Given the description of an element on the screen output the (x, y) to click on. 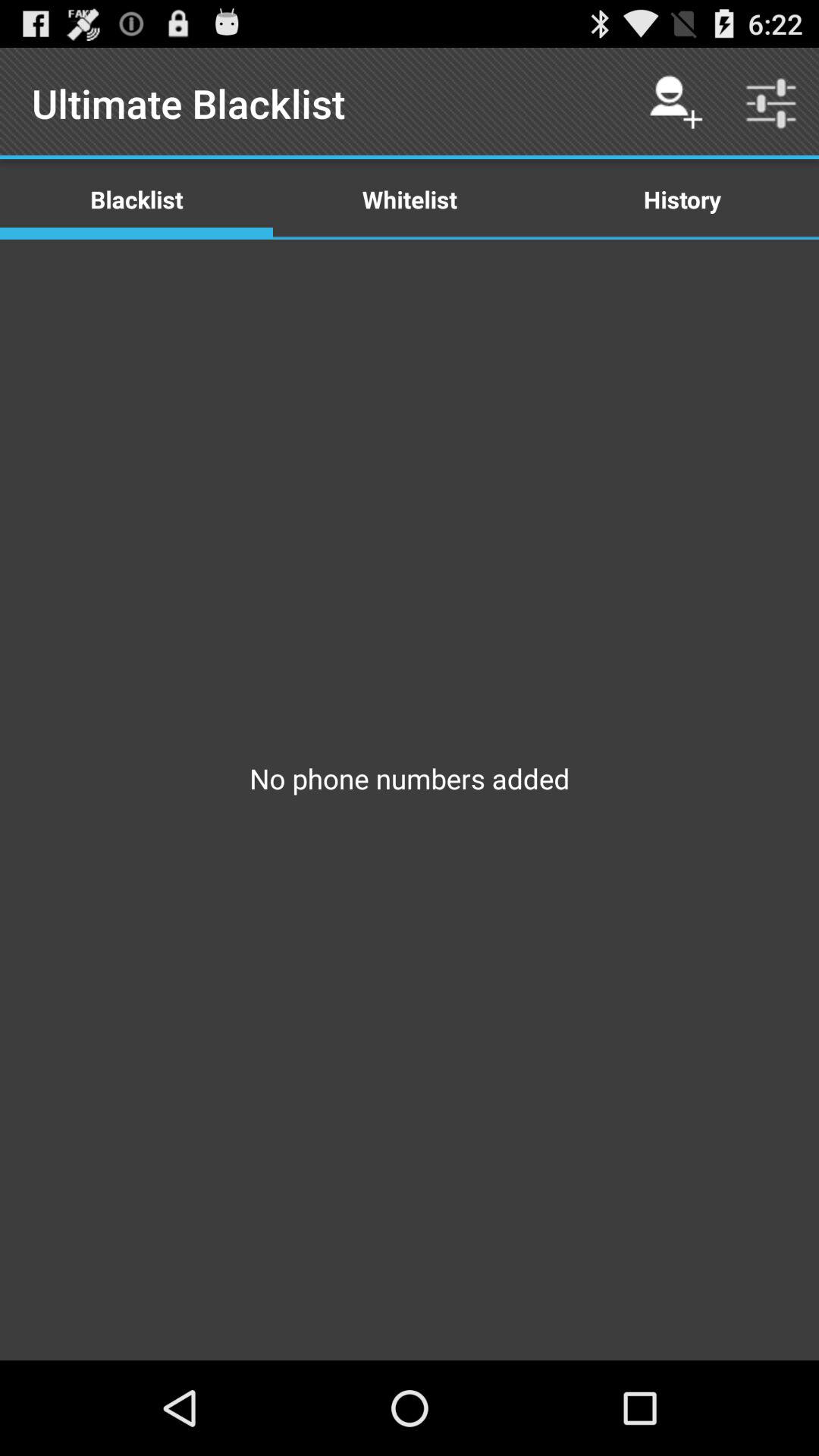
press history icon (682, 199)
